Given the description of an element on the screen output the (x, y) to click on. 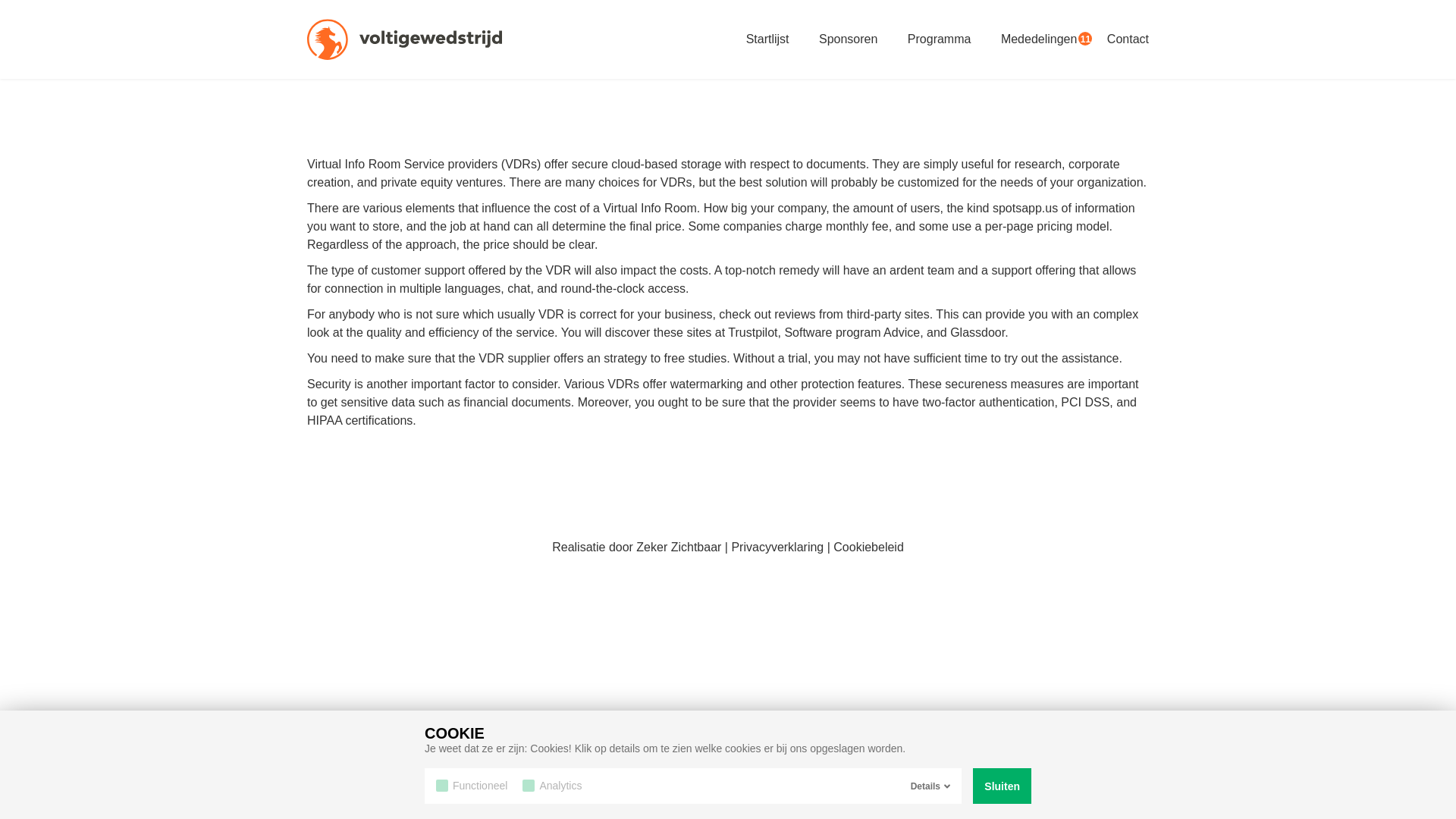
Privacyverklaring (777, 546)
Zeker Zichtbaar (678, 546)
spotsapp.us (1025, 207)
Programma (939, 38)
Mededelingen (1039, 38)
Startlijst (767, 38)
Cookiebeleid (868, 546)
Sponsoren (847, 38)
Contact (1127, 38)
